Given the description of an element on the screen output the (x, y) to click on. 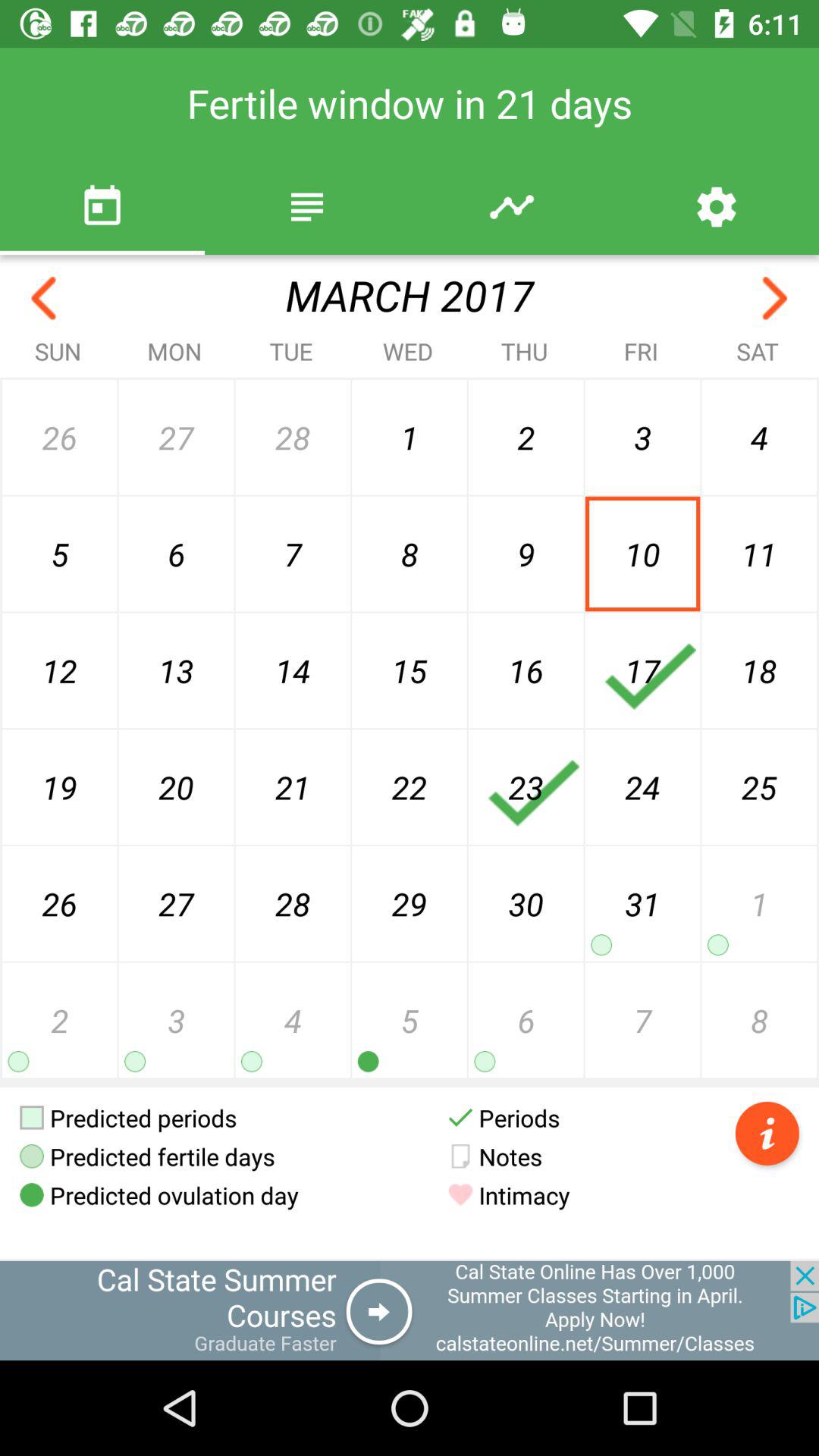
go back (43, 298)
